Given the description of an element on the screen output the (x, y) to click on. 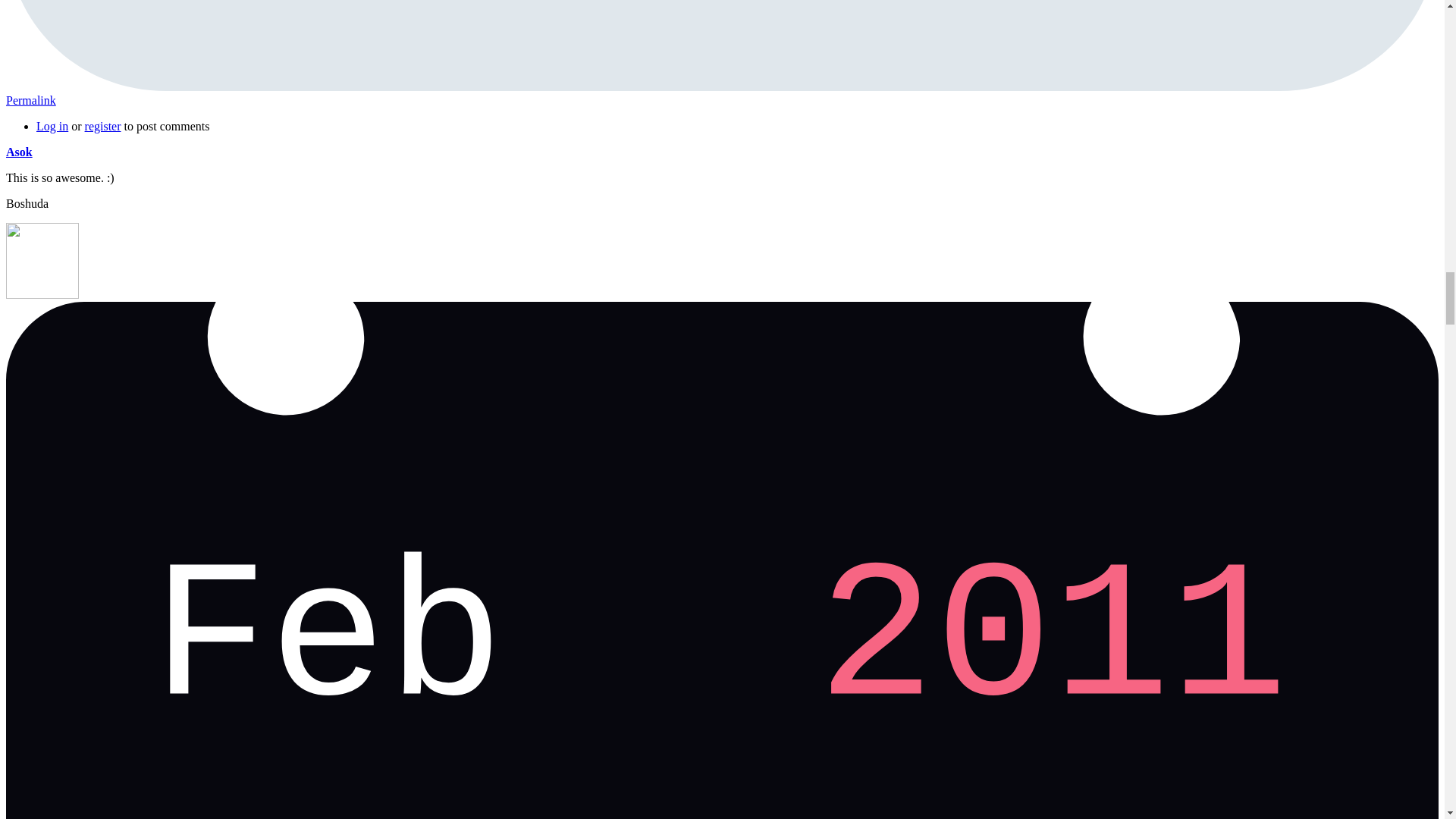
Log in (52, 125)
register (102, 125)
Asok (18, 151)
Permalink (30, 100)
View user profile. (18, 151)
